Given the description of an element on the screen output the (x, y) to click on. 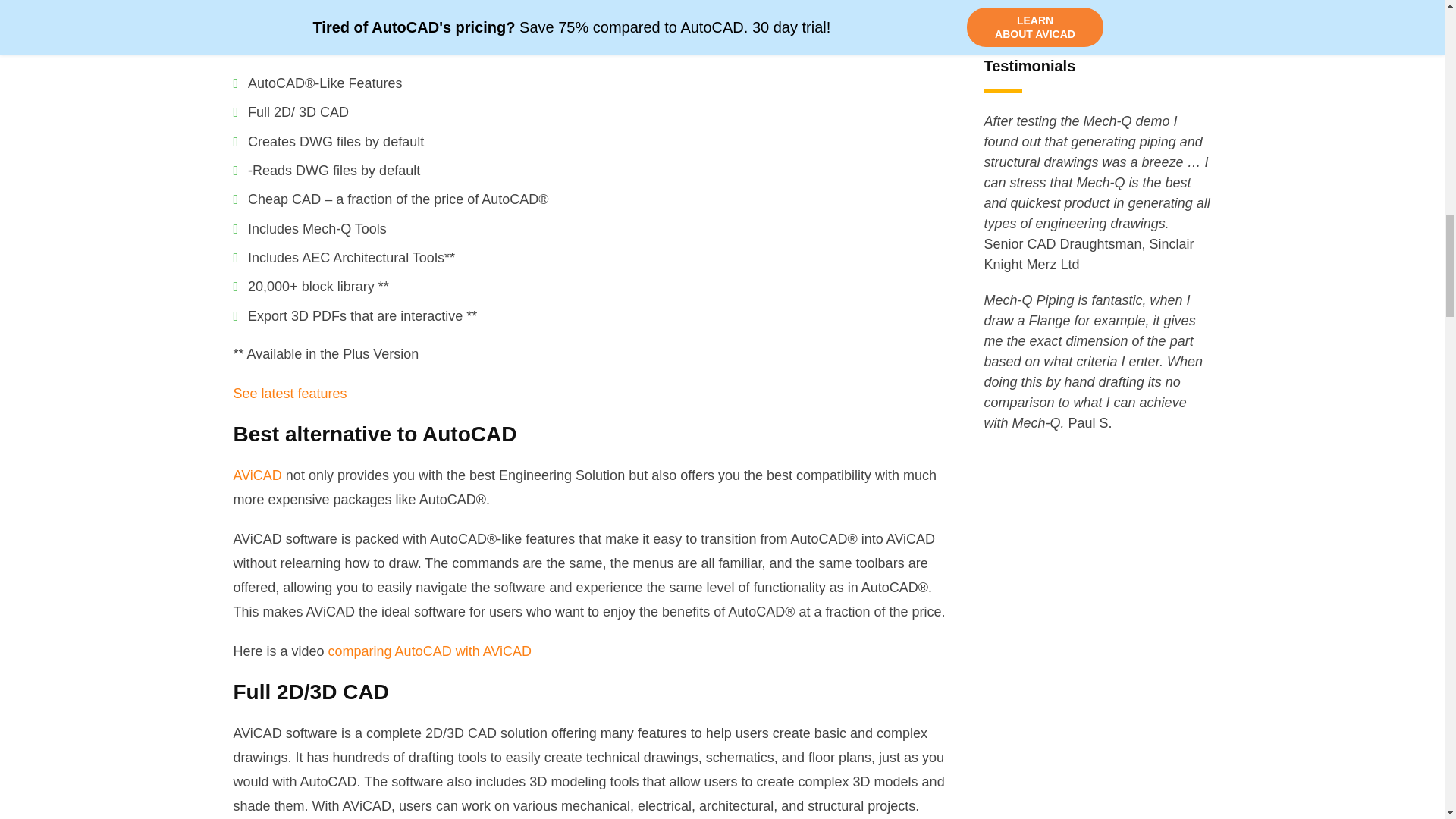
comparing AutoCAD with AViCAD (430, 651)
See latest features (289, 393)
AViCAD (257, 475)
